Given the description of an element on the screen output the (x, y) to click on. 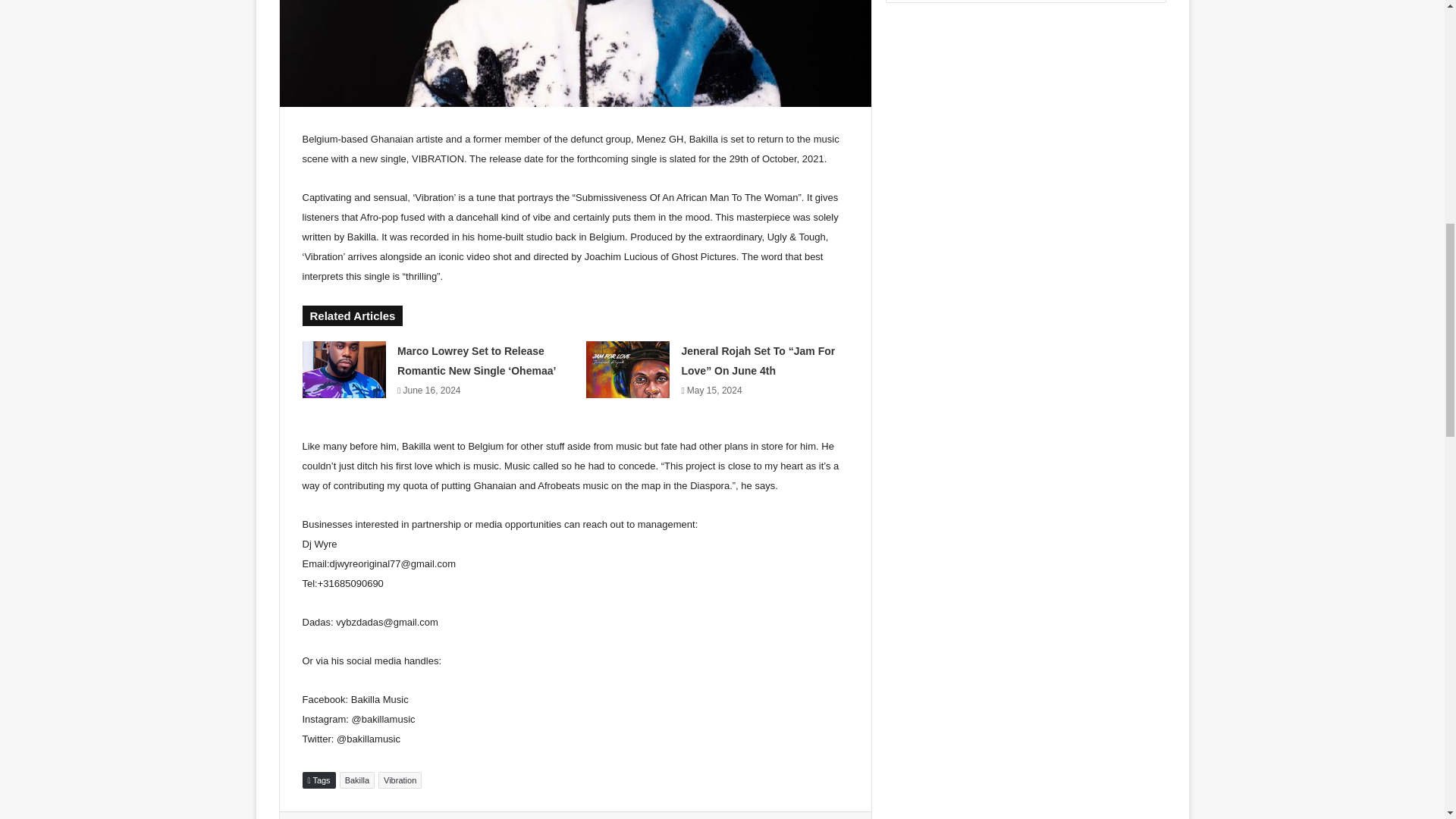
Vibration (400, 780)
Bakilla (356, 780)
